Given the description of an element on the screen output the (x, y) to click on. 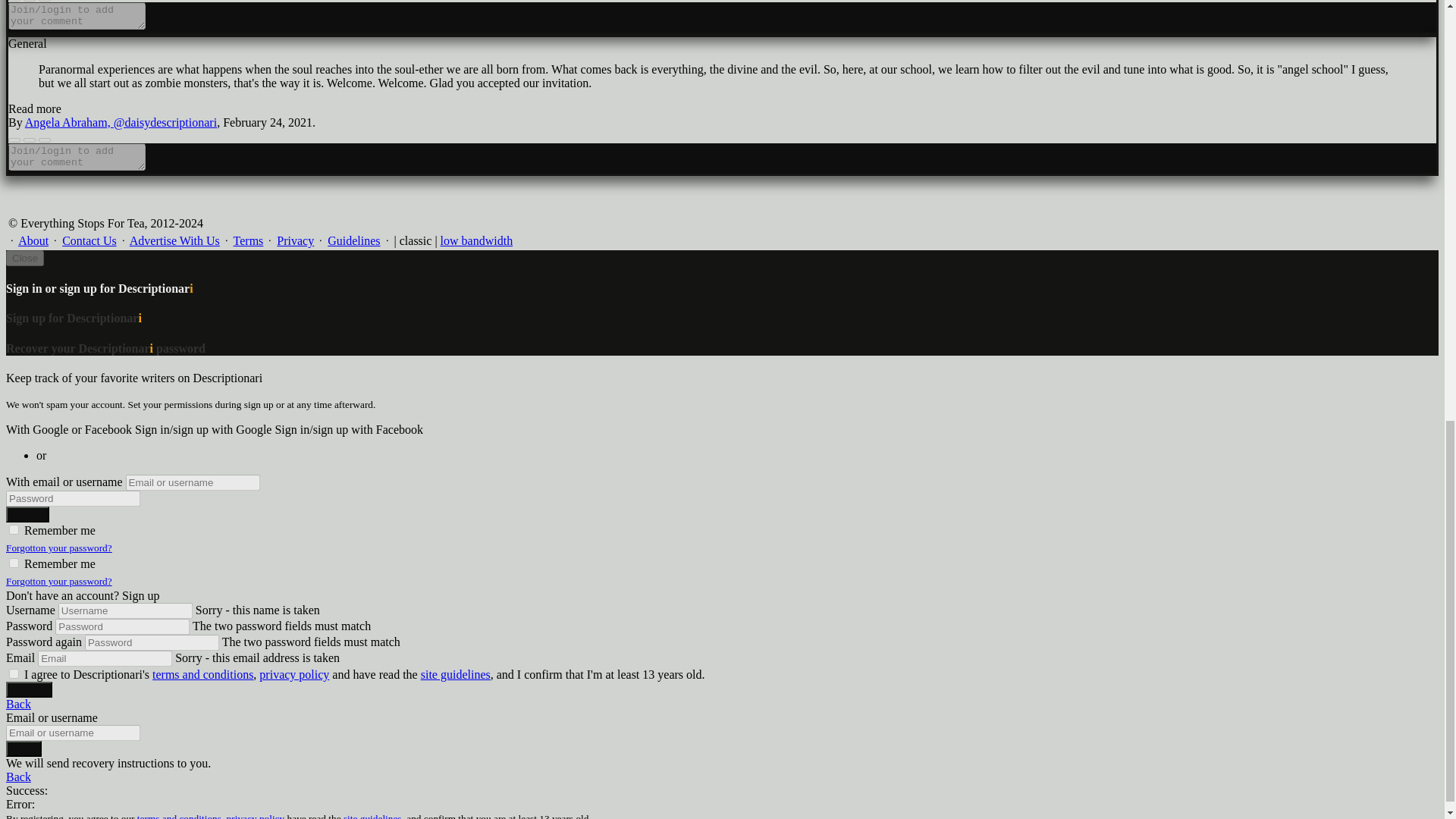
on (13, 673)
1 (13, 529)
1 (13, 562)
Read more (34, 108)
